Given the description of an element on the screen output the (x, y) to click on. 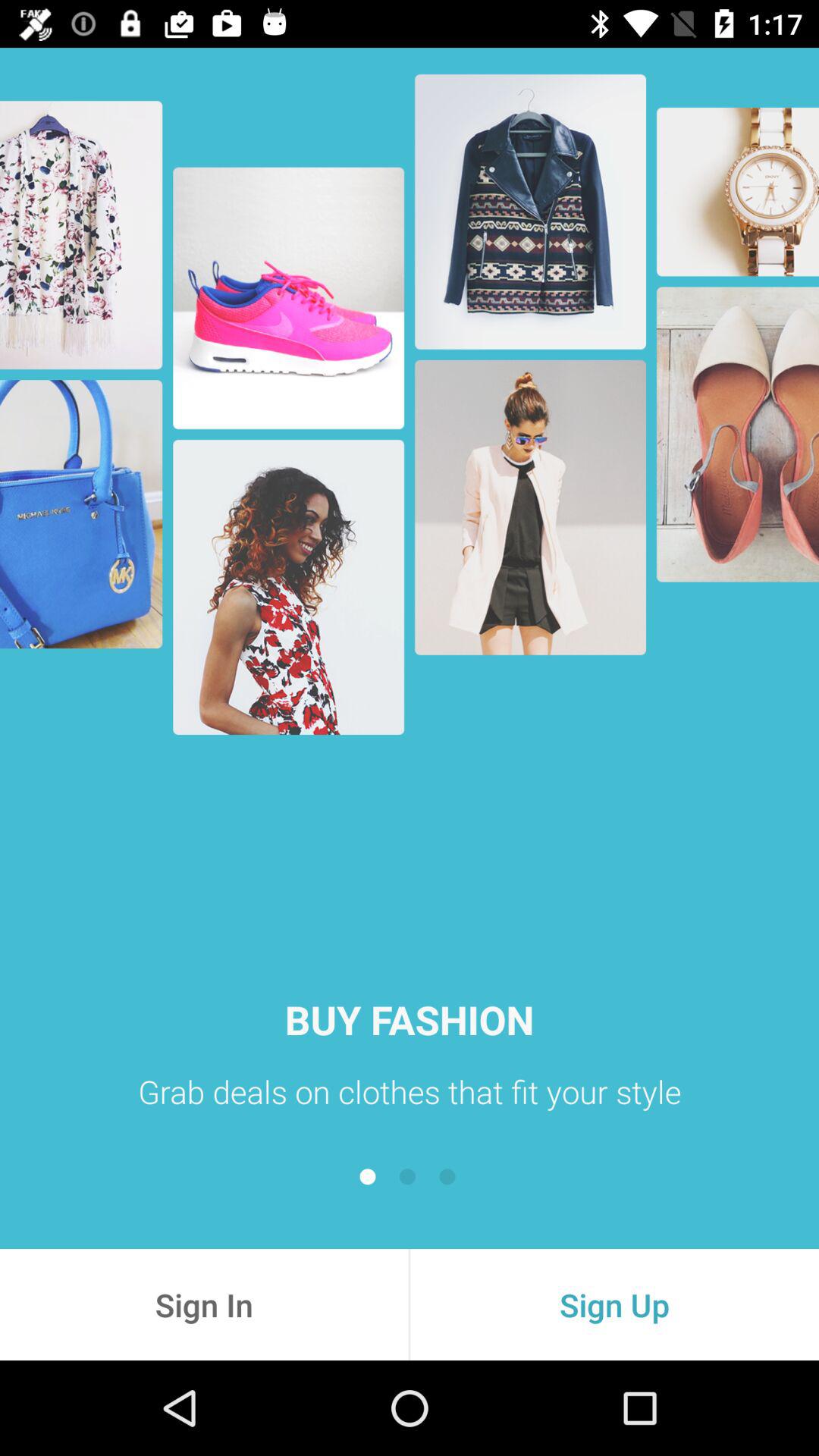
open sign up at the bottom right corner (614, 1304)
